Given the description of an element on the screen output the (x, y) to click on. 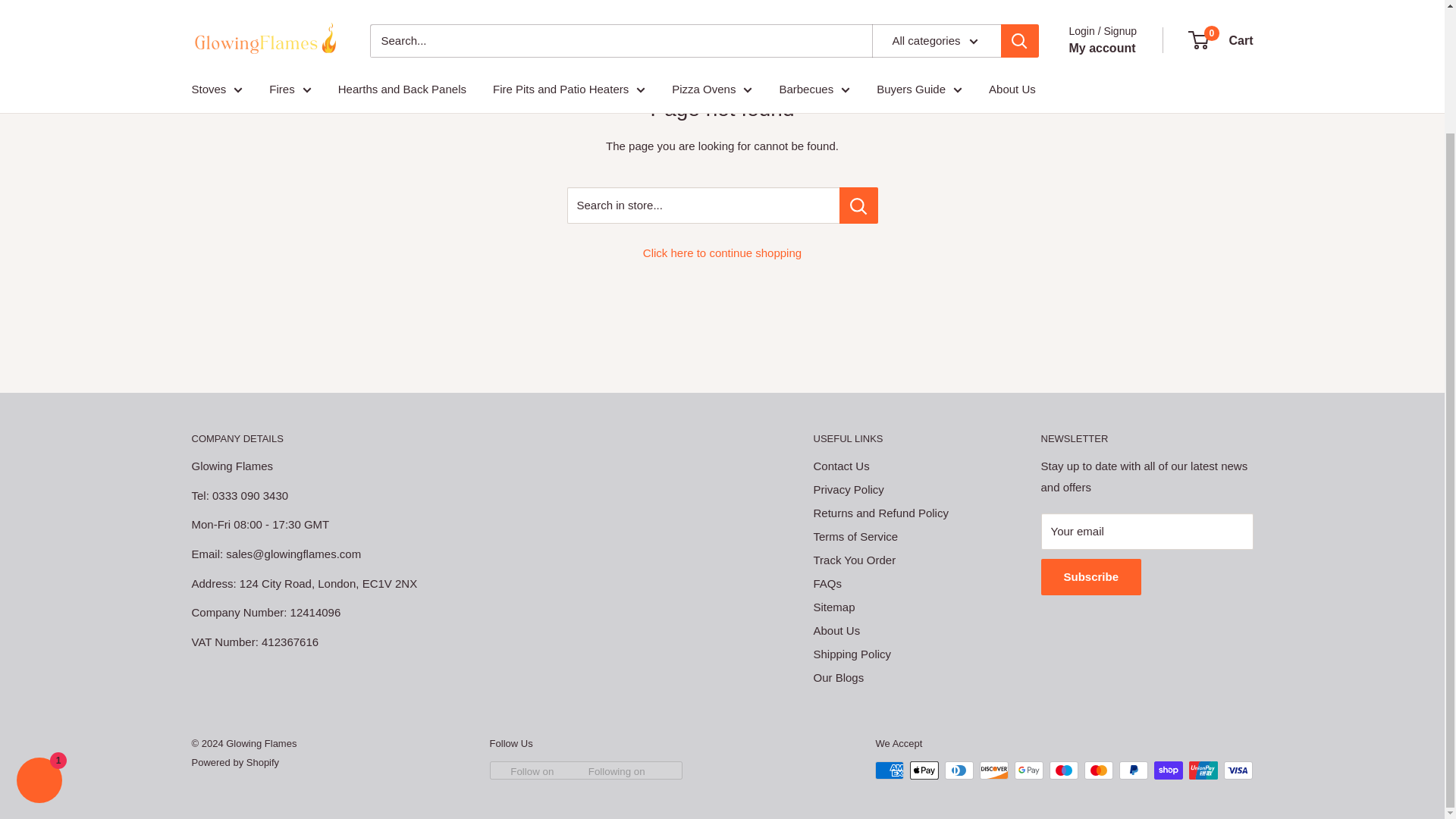
Shopify online store chat (38, 633)
